Given the description of an element on the screen output the (x, y) to click on. 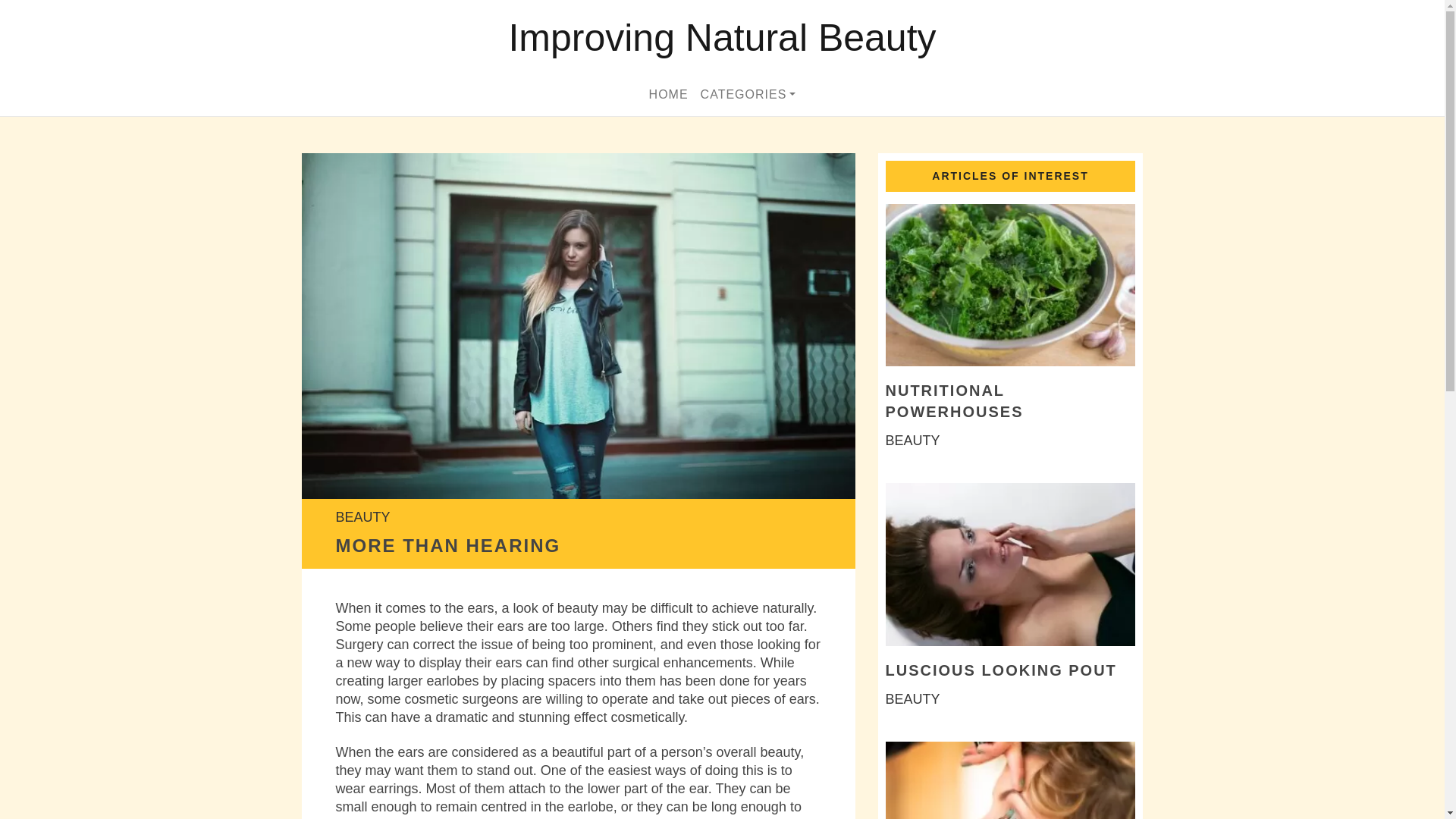
LUSCIOUS LOOKING POUT (1000, 669)
HOME (668, 94)
CATEGORIES (748, 94)
BEAUTY (912, 440)
NUTRITIONAL POWERHOUSES (954, 401)
BEAUTY (362, 516)
BEAUTY (912, 698)
Improving Natural Beauty (722, 37)
